Given the description of an element on the screen output the (x, y) to click on. 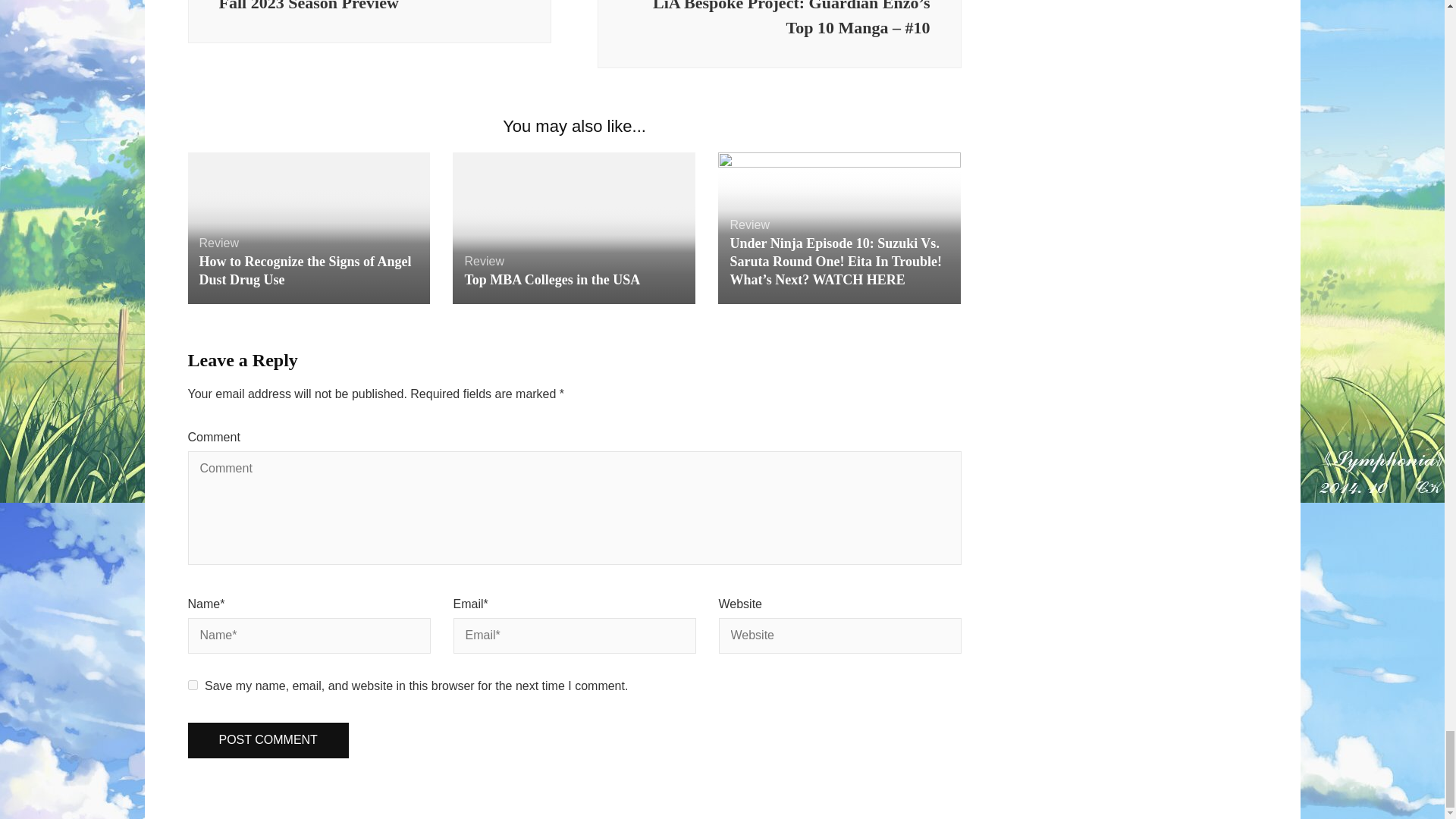
Post Comment (268, 740)
Review (483, 260)
Top MBA Colleges in the USA (552, 279)
How to Recognize the Signs of Angel Dust Drug Use (304, 270)
Review (748, 224)
Post Comment (268, 740)
yes (192, 685)
Review (218, 242)
